Given the description of an element on the screen output the (x, y) to click on. 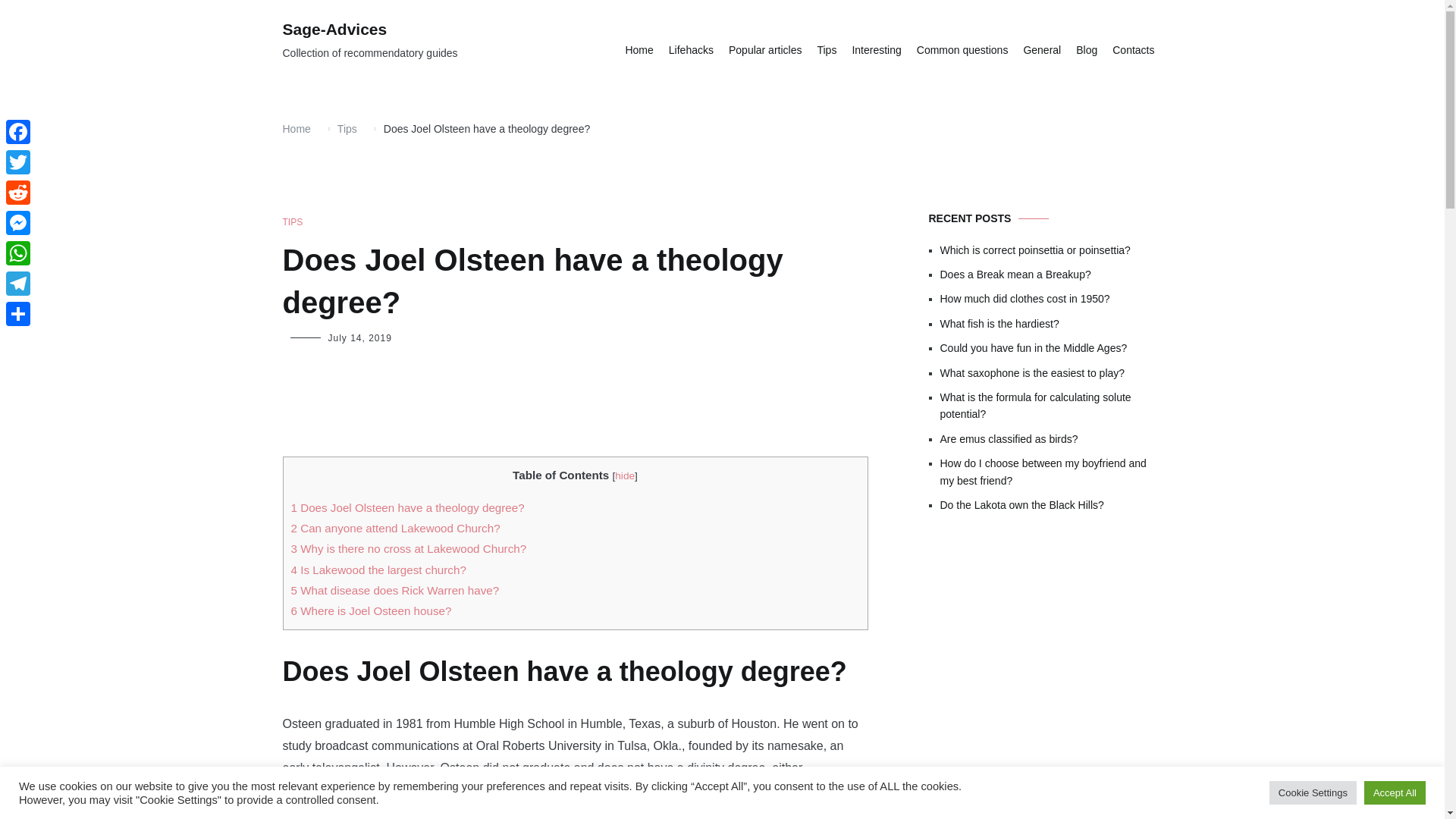
hide (624, 475)
Lifehacks (690, 49)
Does a Break mean a Breakup? (1050, 274)
Common questions (963, 49)
4 Is Lakewood the largest church? (378, 569)
Could you have fun in the Middle Ages? (1050, 347)
Reddit (17, 192)
TIPS (292, 222)
Telegram (17, 283)
Messenger (17, 223)
